Given the description of an element on the screen output the (x, y) to click on. 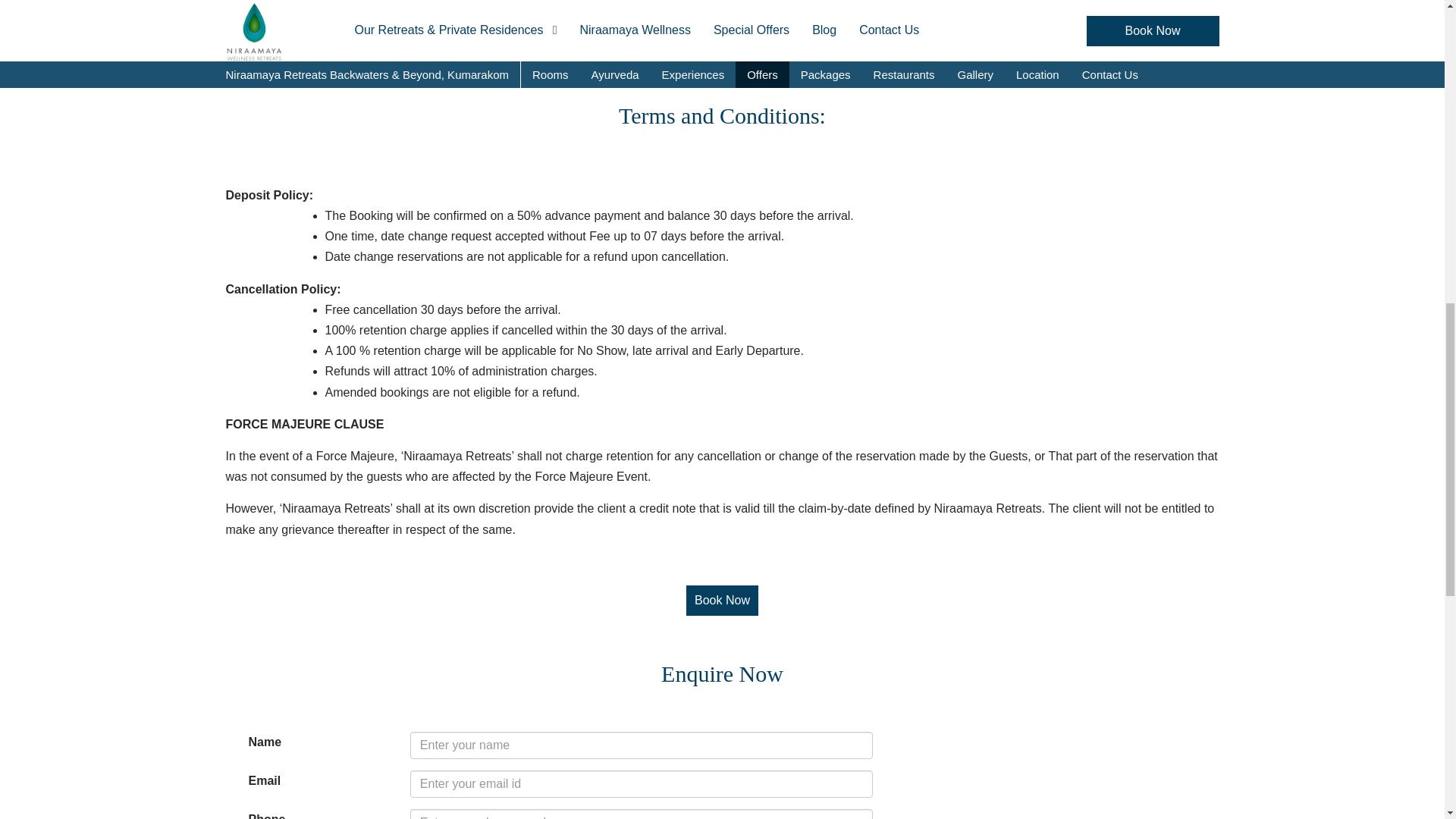
Book Now (721, 600)
